Given the description of an element on the screen output the (x, y) to click on. 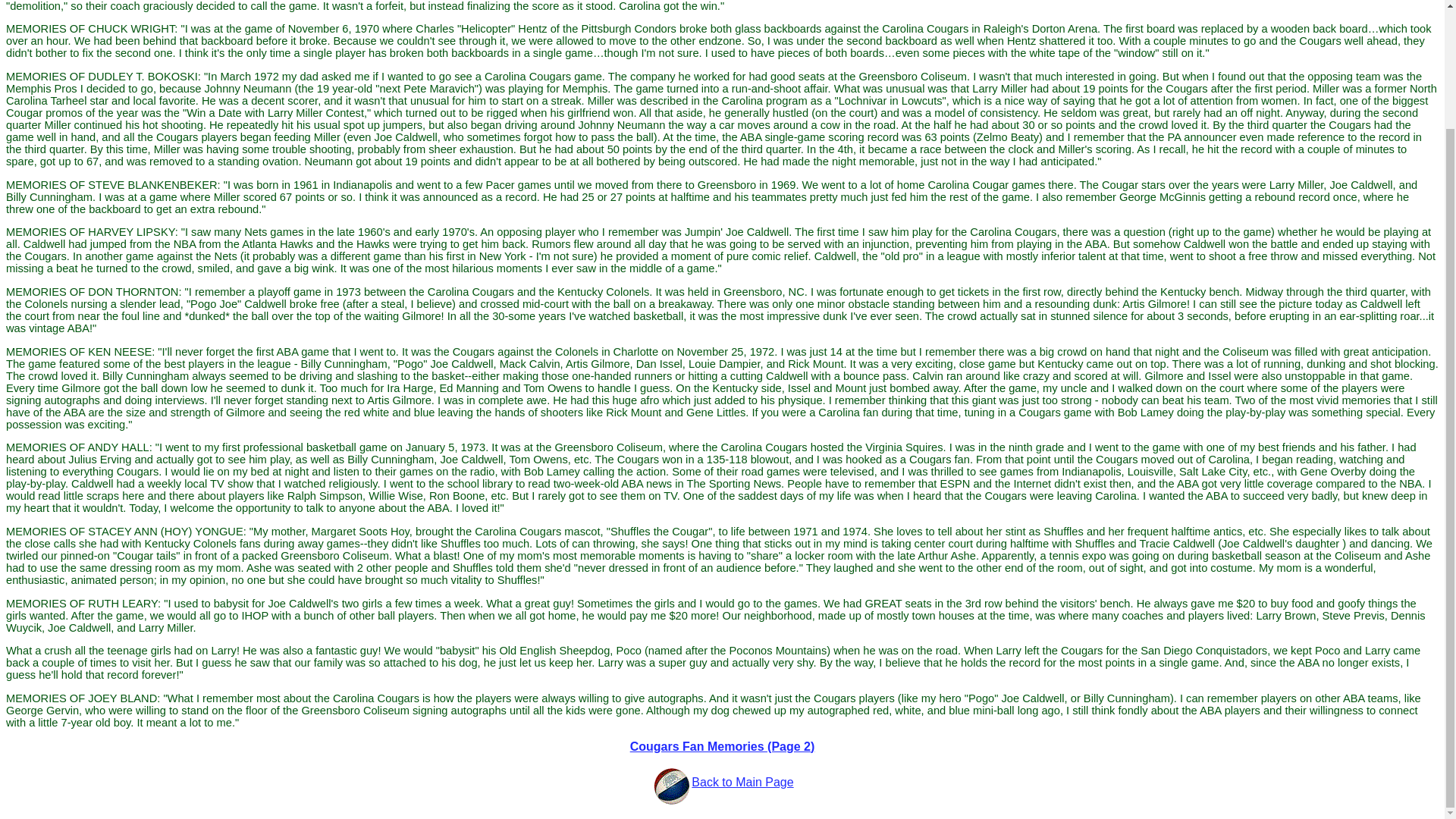
Back to Main Page (742, 781)
